Given the description of an element on the screen output the (x, y) to click on. 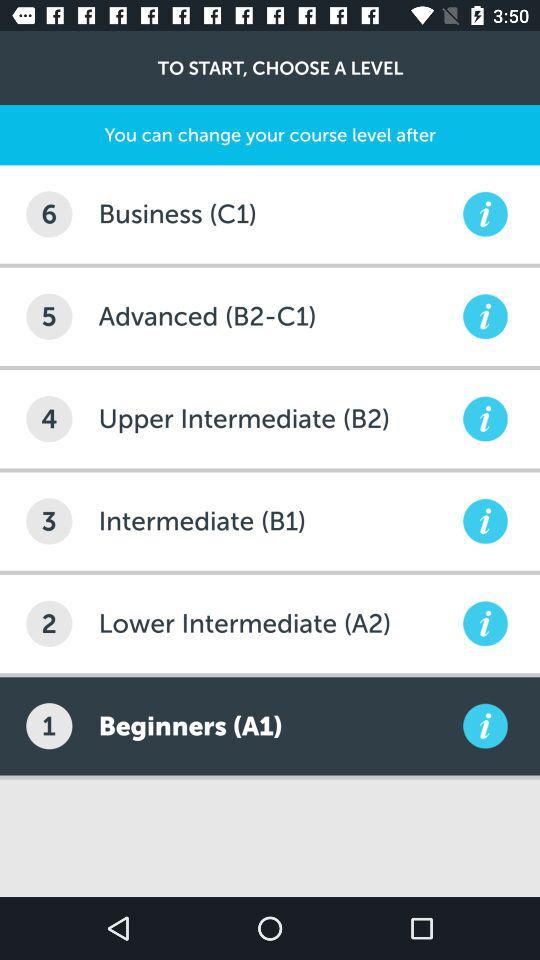
more information (485, 521)
